Given the description of an element on the screen output the (x, y) to click on. 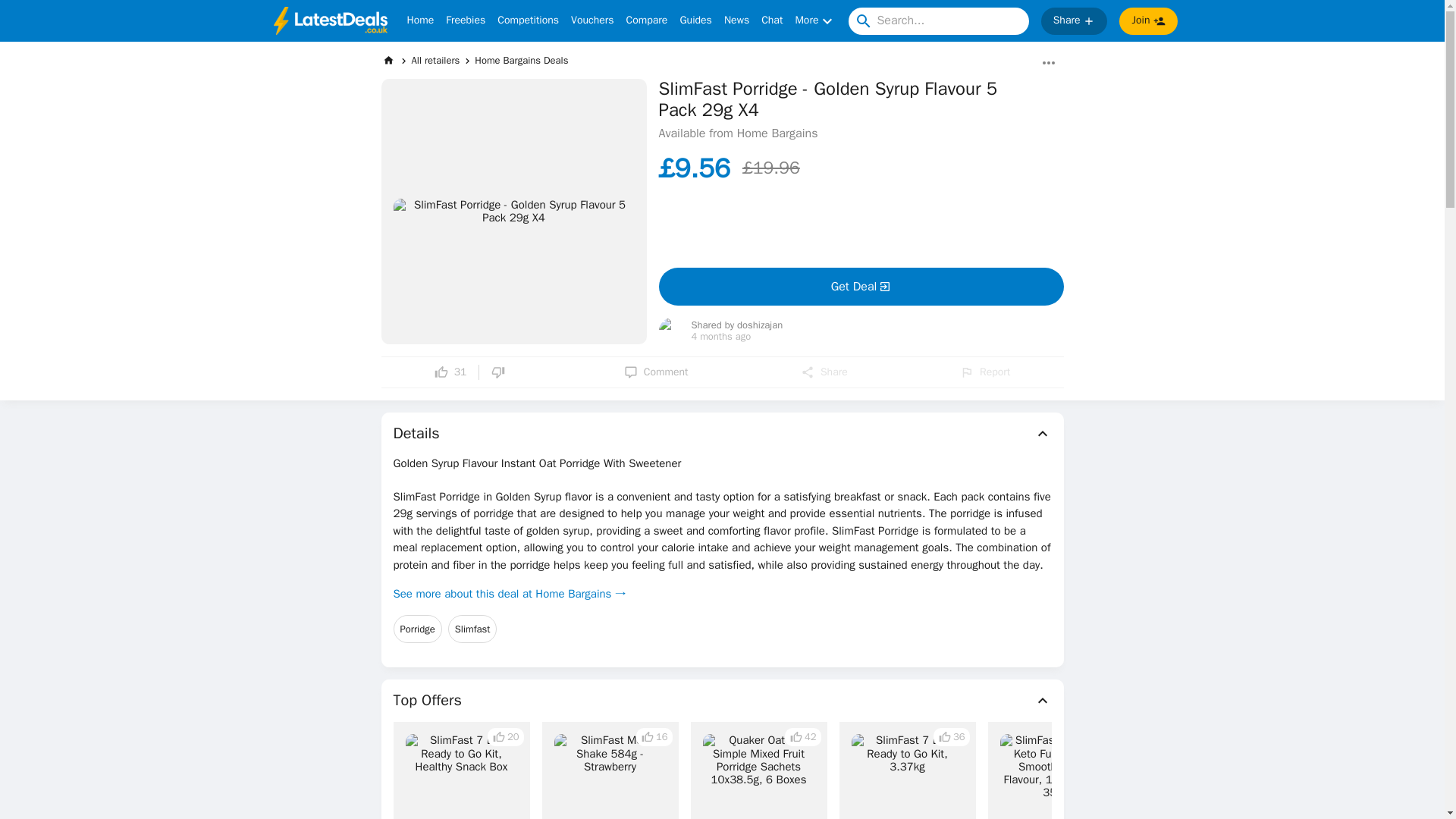
More (814, 21)
News (736, 21)
31 (450, 372)
Slimfast (472, 629)
All retailers (435, 60)
Shared by doshizajan (737, 325)
Report (984, 371)
Compare (647, 21)
Top Offers (722, 700)
Porridge (417, 629)
